Given the description of an element on the screen output the (x, y) to click on. 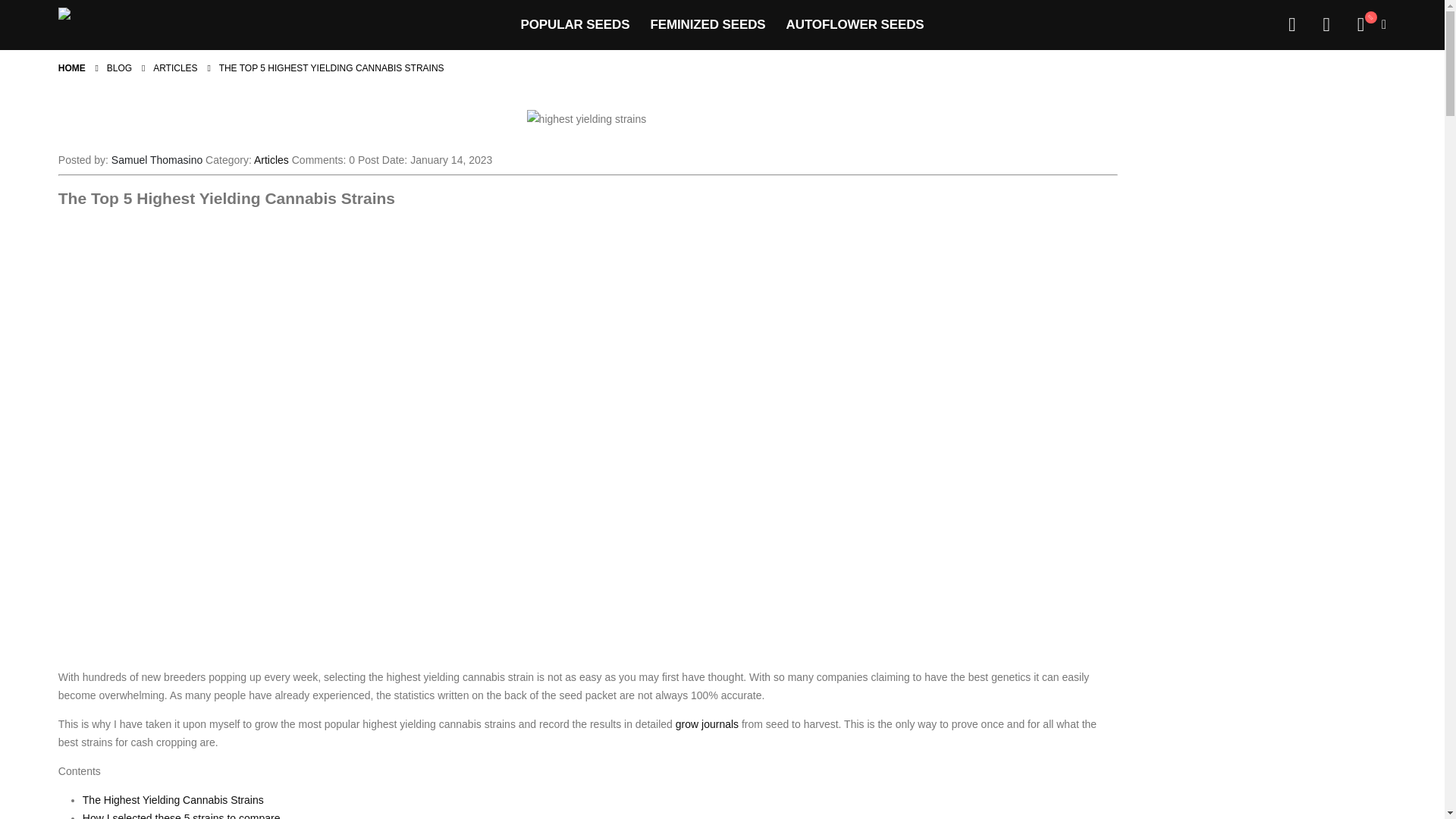
My Account (1291, 25)
How I selected these 5 strains to compare (181, 815)
Sticky Seeds -  (111, 24)
Articles (270, 159)
POPULAR SEEDS (575, 24)
Go to Home Page (71, 67)
HOME (71, 67)
grow journals (706, 724)
The Highest Yielding Cannabis Strains (172, 799)
FEMINIZED SEEDS (707, 24)
AUTOFLOWER SEEDS (855, 24)
BLOG (119, 67)
ARTICLES (174, 67)
